Given the description of an element on the screen output the (x, y) to click on. 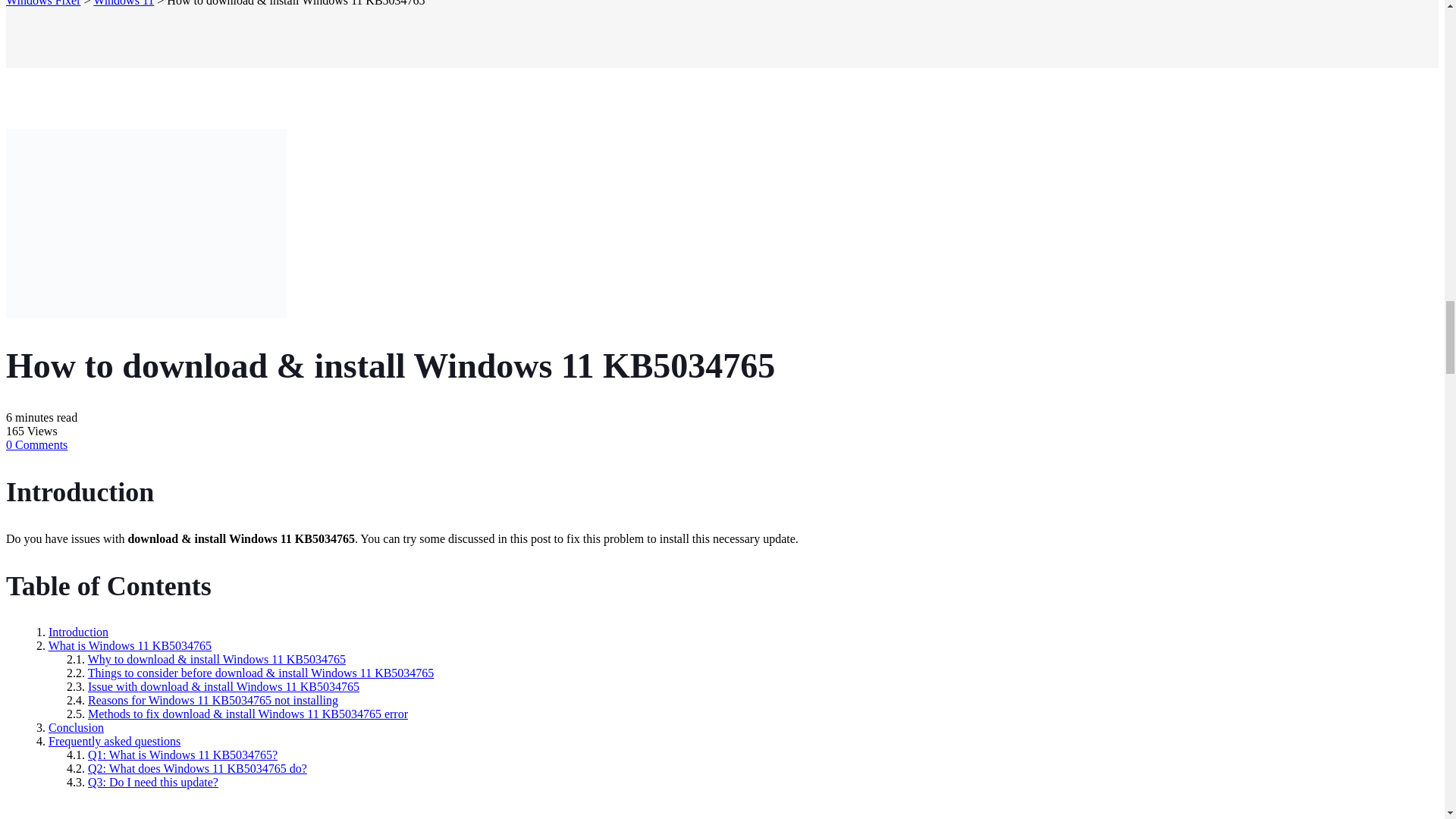
Windows 11 (123, 3)
Go to Windows Fixer. (42, 3)
Windows Fixer (42, 3)
Go to the Windows 11 Category archives. (123, 3)
0 Comments (35, 444)
